Given the description of an element on the screen output the (x, y) to click on. 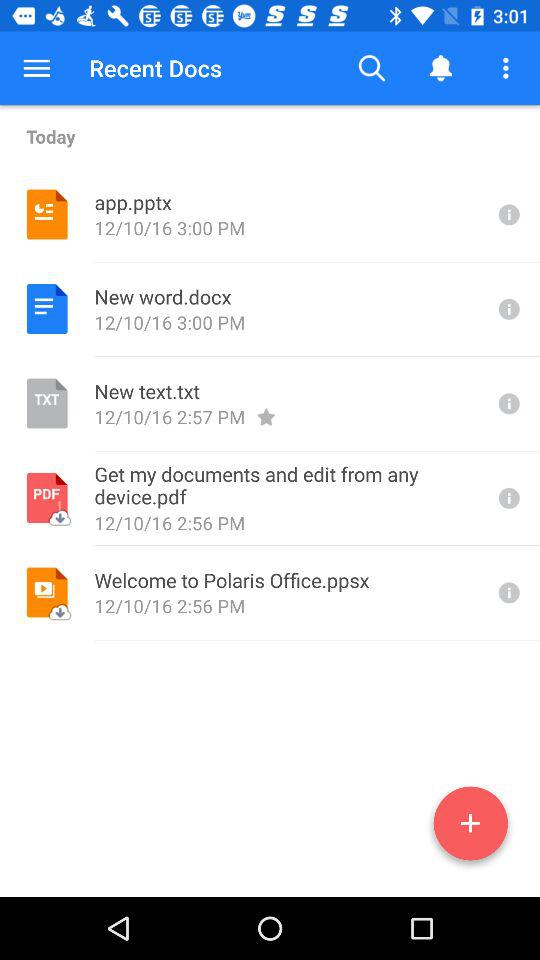
add a doc (470, 827)
